Given the description of an element on the screen output the (x, y) to click on. 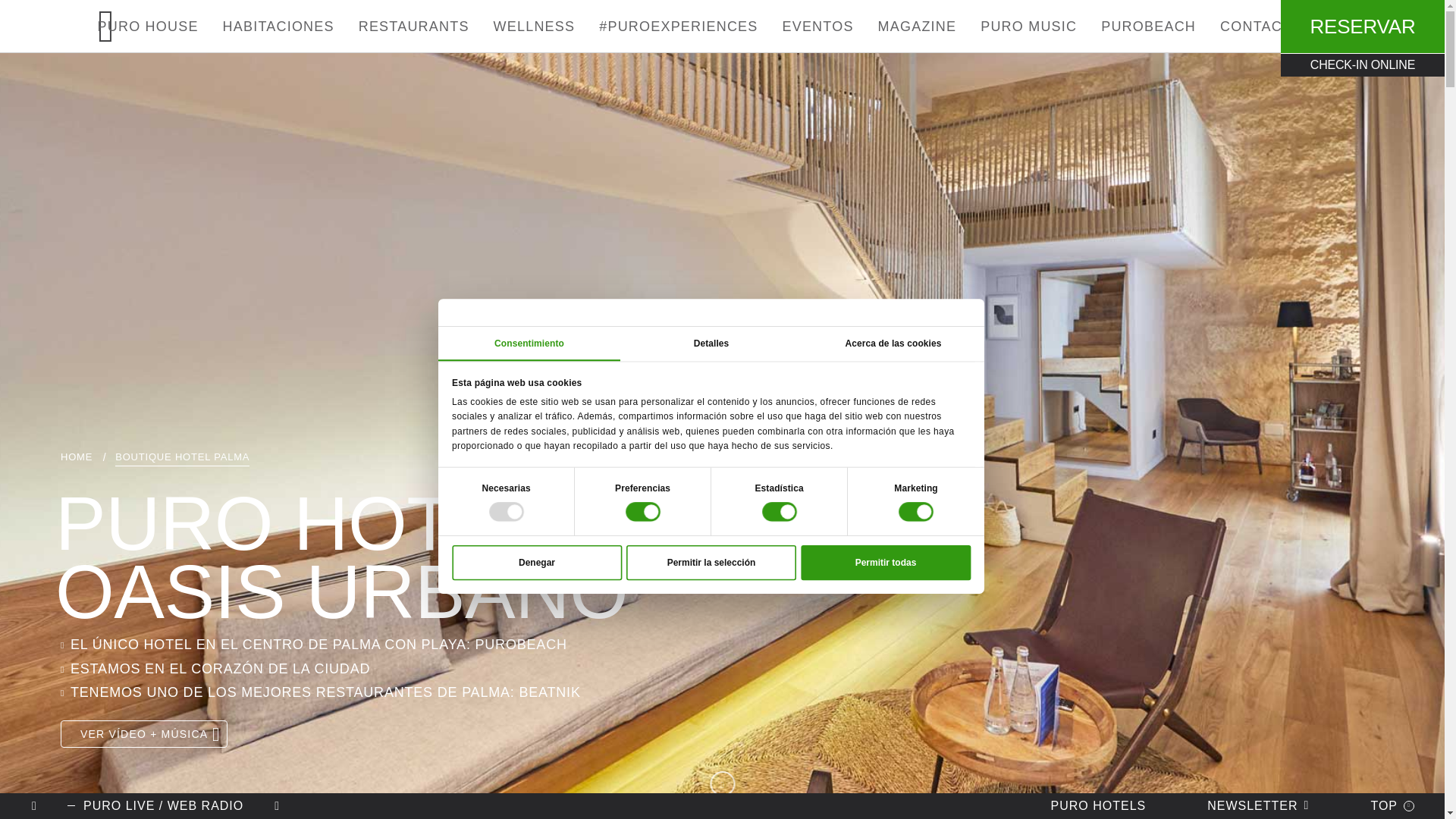
Acerca de las cookies (915, 348)
Detalles (733, 348)
Consentimiento (551, 348)
